Given the description of an element on the screen output the (x, y) to click on. 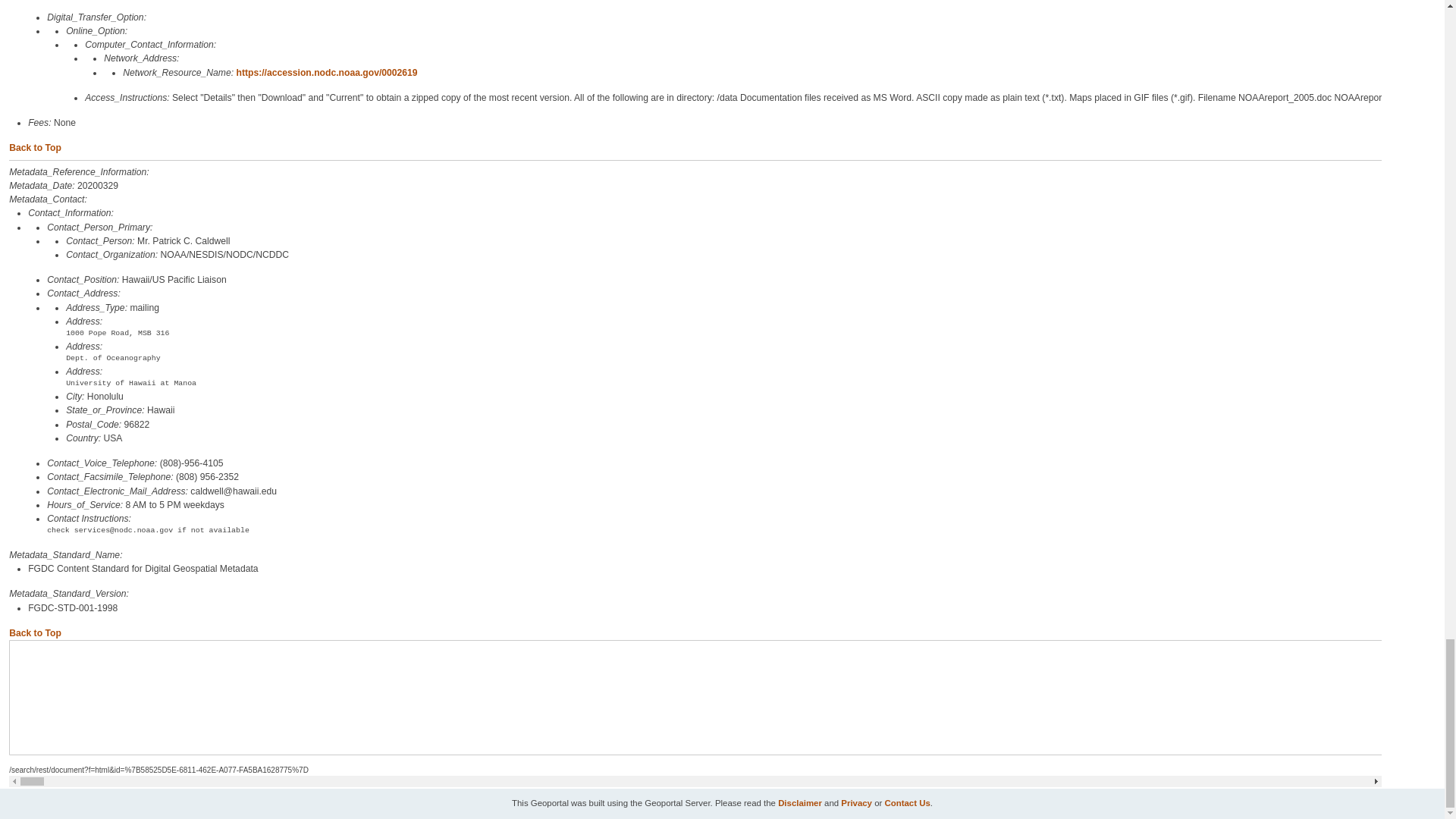
Privacy (856, 802)
Contact Us (906, 802)
Back to Top (34, 147)
Back to Top (34, 633)
Disclaimer (799, 802)
